Given the description of an element on the screen output the (x, y) to click on. 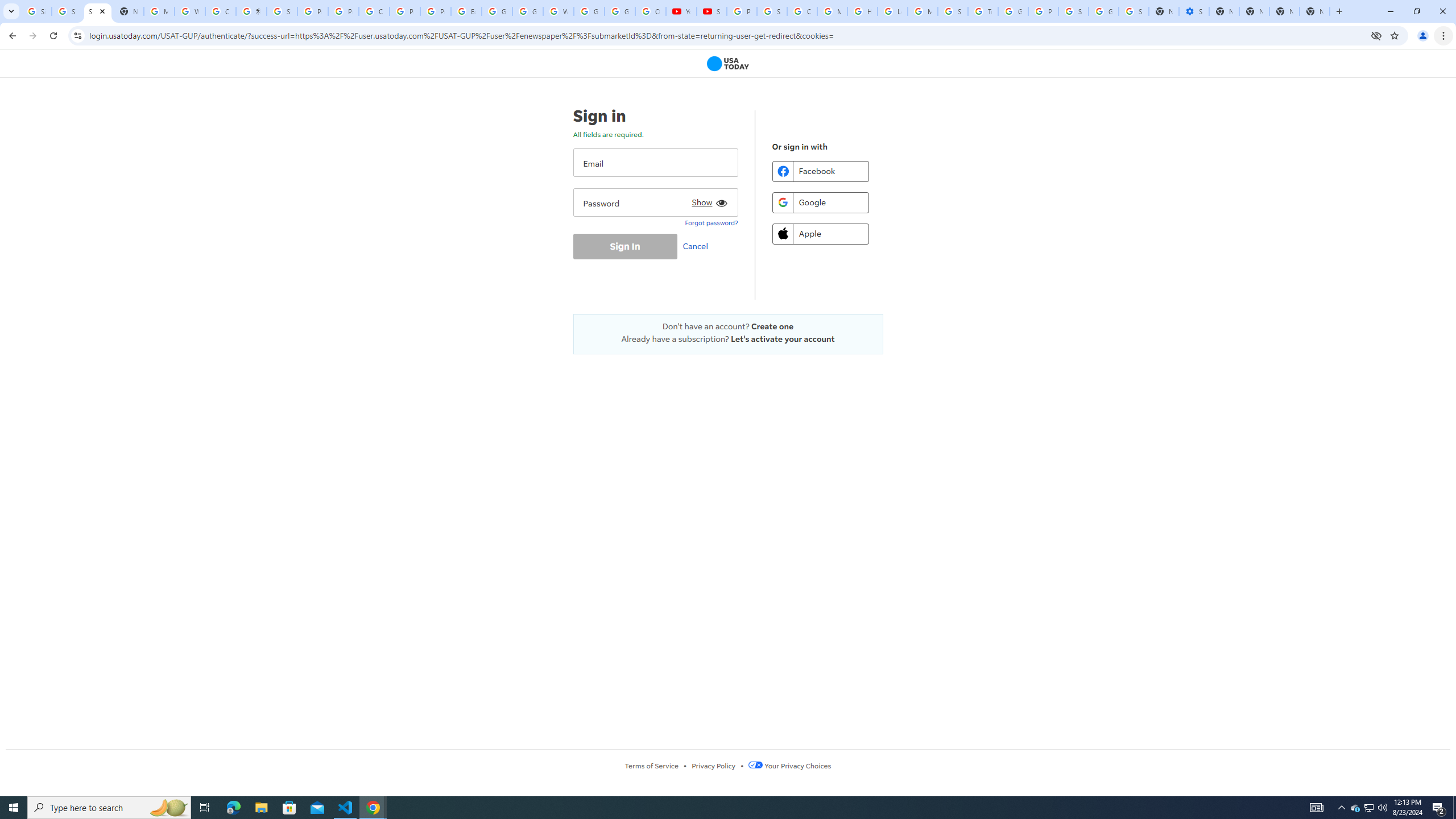
Google Cybersecurity Innovations - Google Safety Center (1103, 11)
Forgot password? (711, 221)
Google Slides: Sign-in (496, 11)
Sign in - Google Accounts (1072, 11)
Sign in - Google Accounts (36, 11)
Apple (820, 233)
Enter Password (655, 202)
Create your Google Account (220, 11)
